Given the description of an element on the screen output the (x, y) to click on. 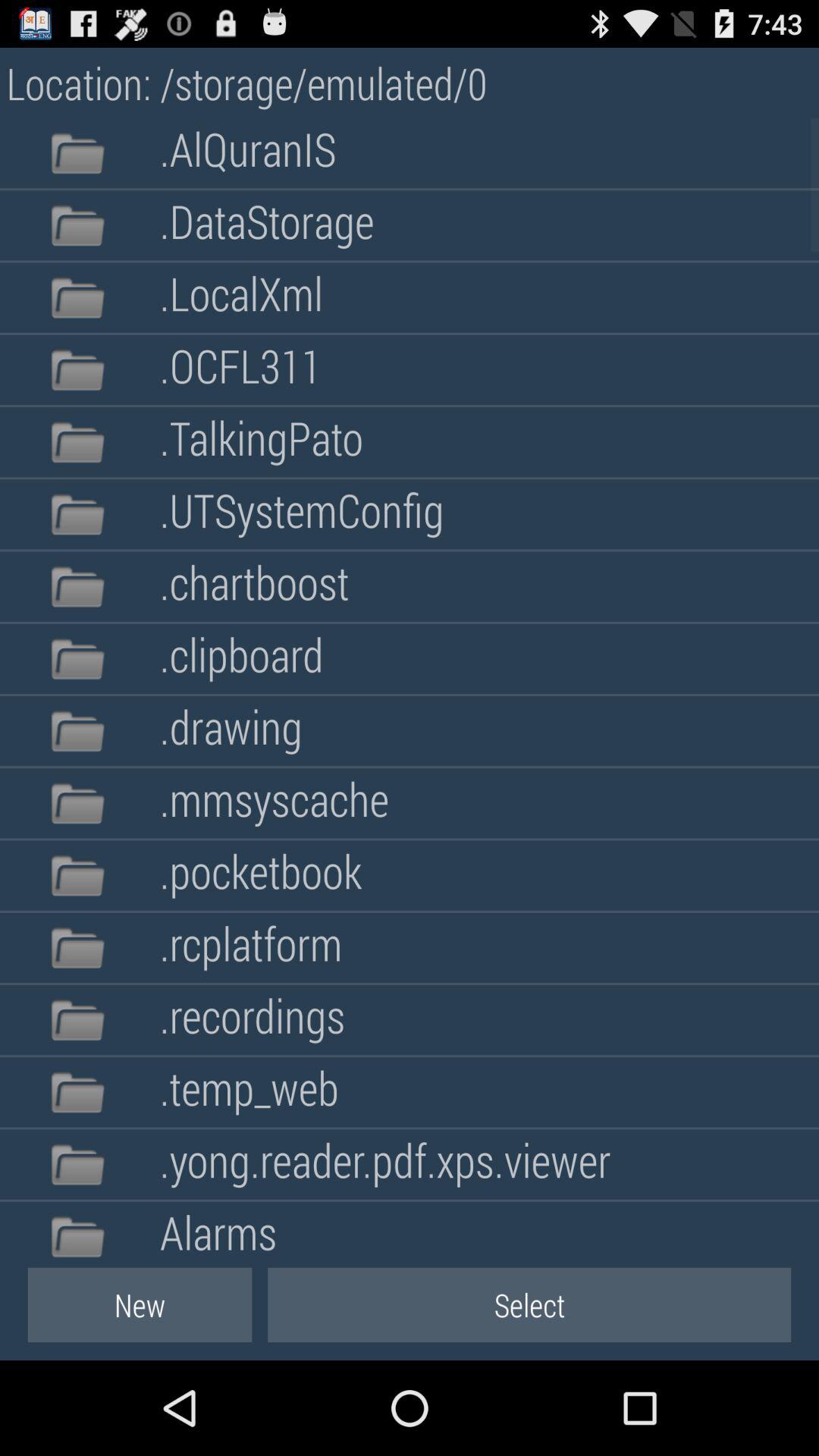
scroll to alarms app (217, 1230)
